Given the description of an element on the screen output the (x, y) to click on. 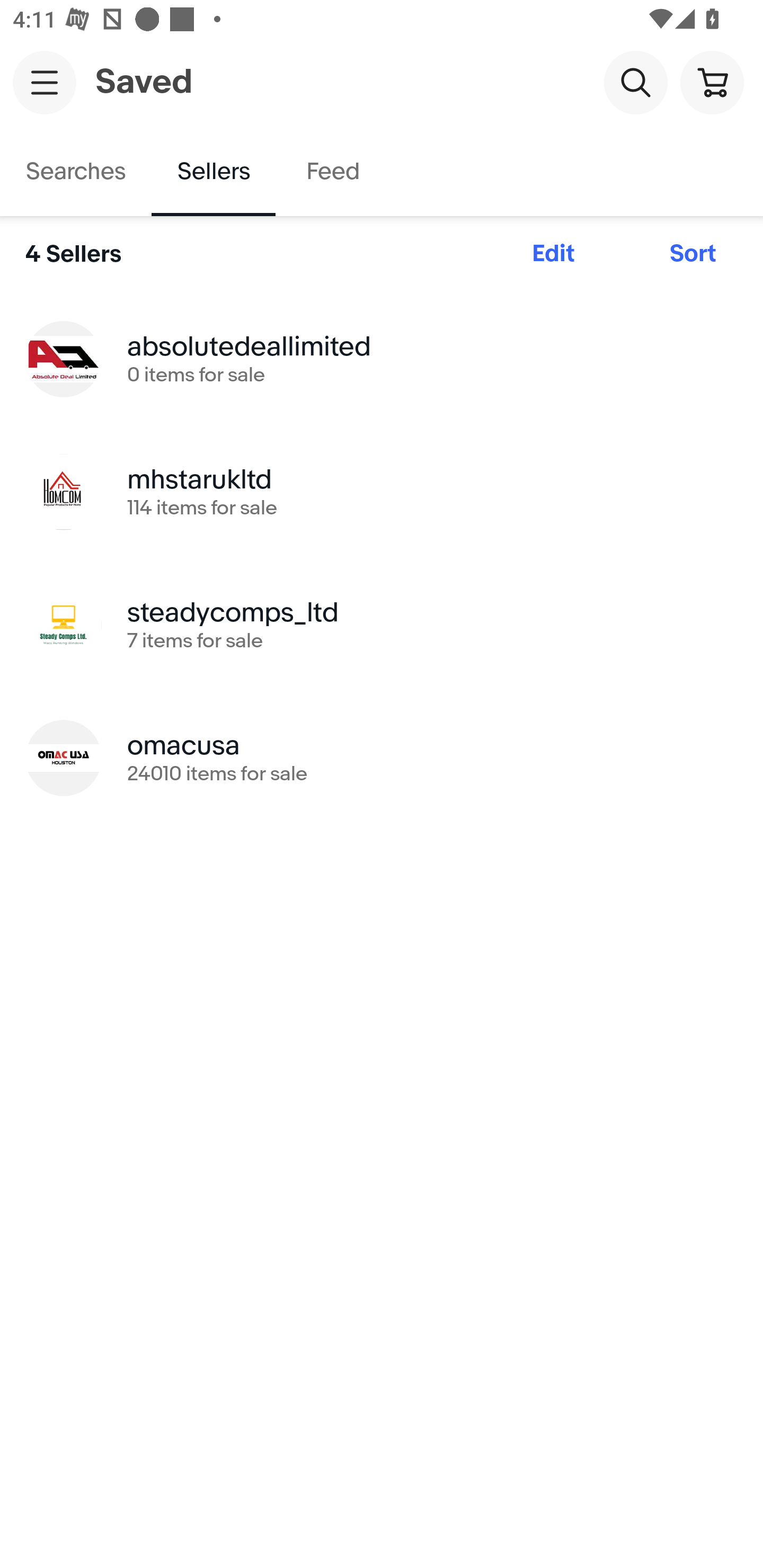
Main navigation, open (44, 82)
Search (635, 81)
Cart button shopping cart (711, 81)
Searches (75, 171)
Feed (332, 171)
Edit (552, 253)
Sort (693, 253)
absolutedeallimited 0 items for sale (381, 357)
mhstarukltd 114 items for sale (381, 491)
steadycomps_ltd 7 items for sale (381, 624)
omacusa 24010 items for sale (381, 757)
